Given the description of an element on the screen output the (x, y) to click on. 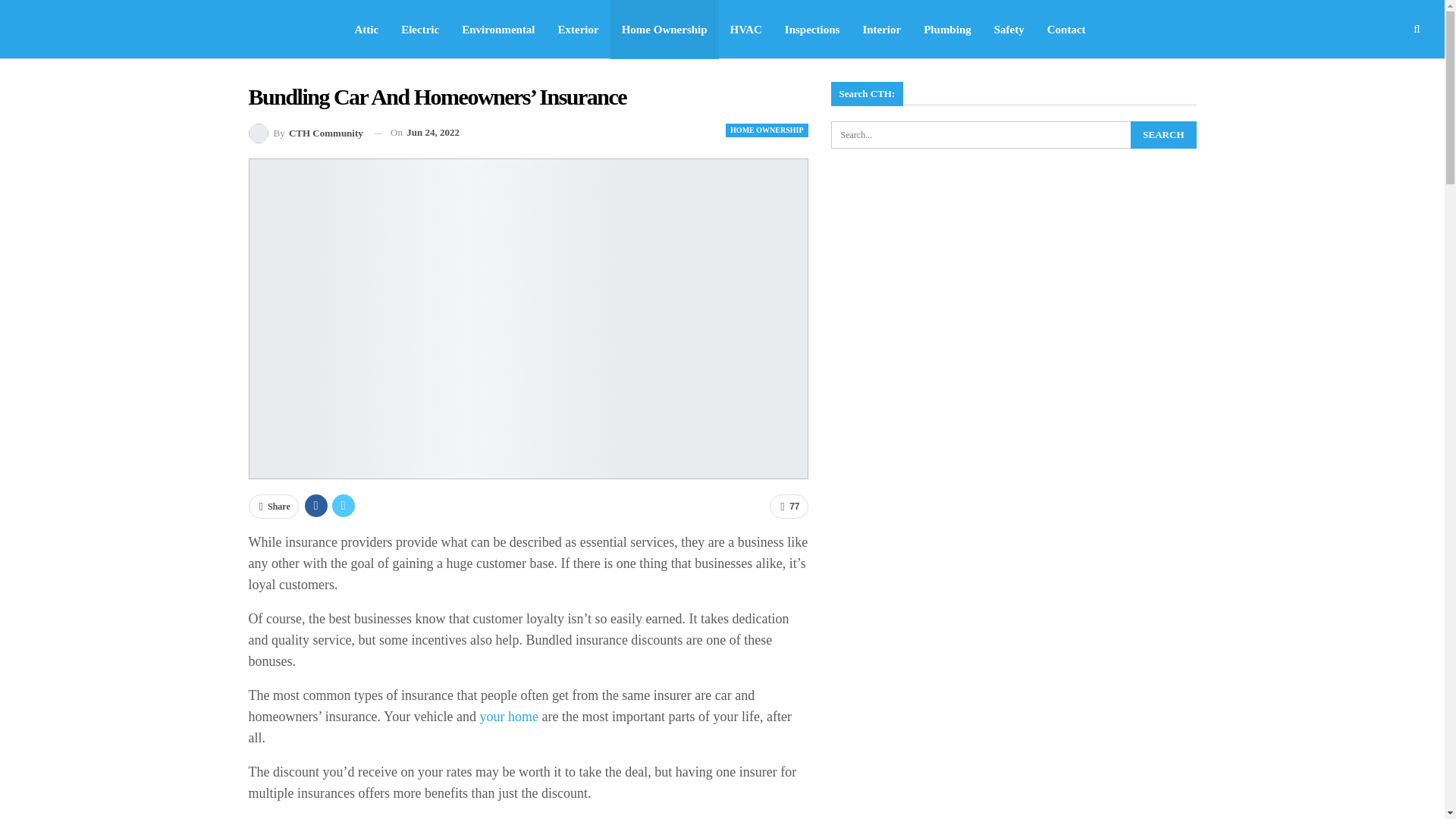
By CTH Community (305, 132)
HVAC (746, 29)
Environmental (497, 29)
Home Ownership (664, 29)
Interior (881, 29)
Plumbing (947, 29)
Browse Author Articles (305, 132)
Search (1163, 134)
Electric (419, 29)
Safety (1008, 29)
